Given the description of an element on the screen output the (x, y) to click on. 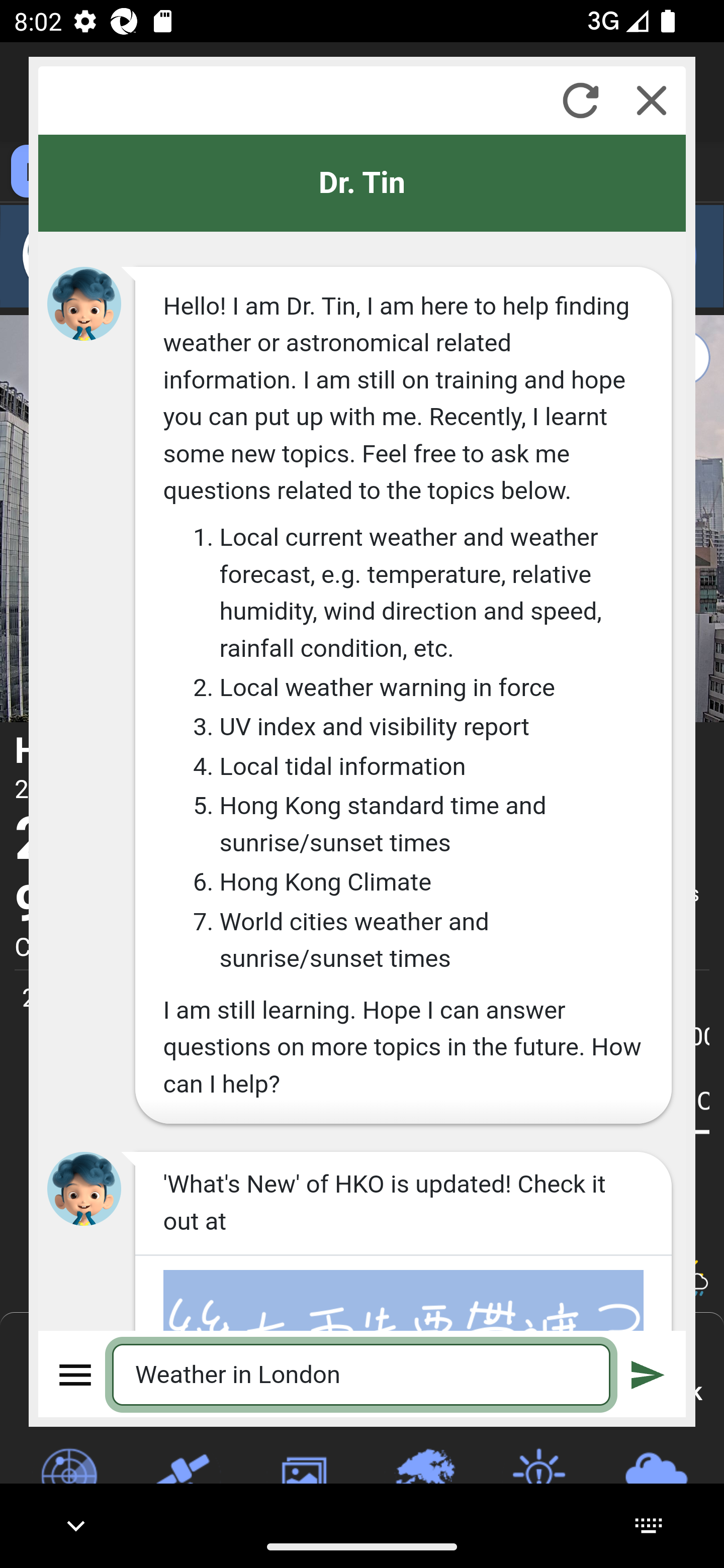
Refresh (580, 100)
Close (651, 100)
Menu (75, 1374)
Submit (648, 1374)
Weather in London (361, 1374)
